Given the description of an element on the screen output the (x, y) to click on. 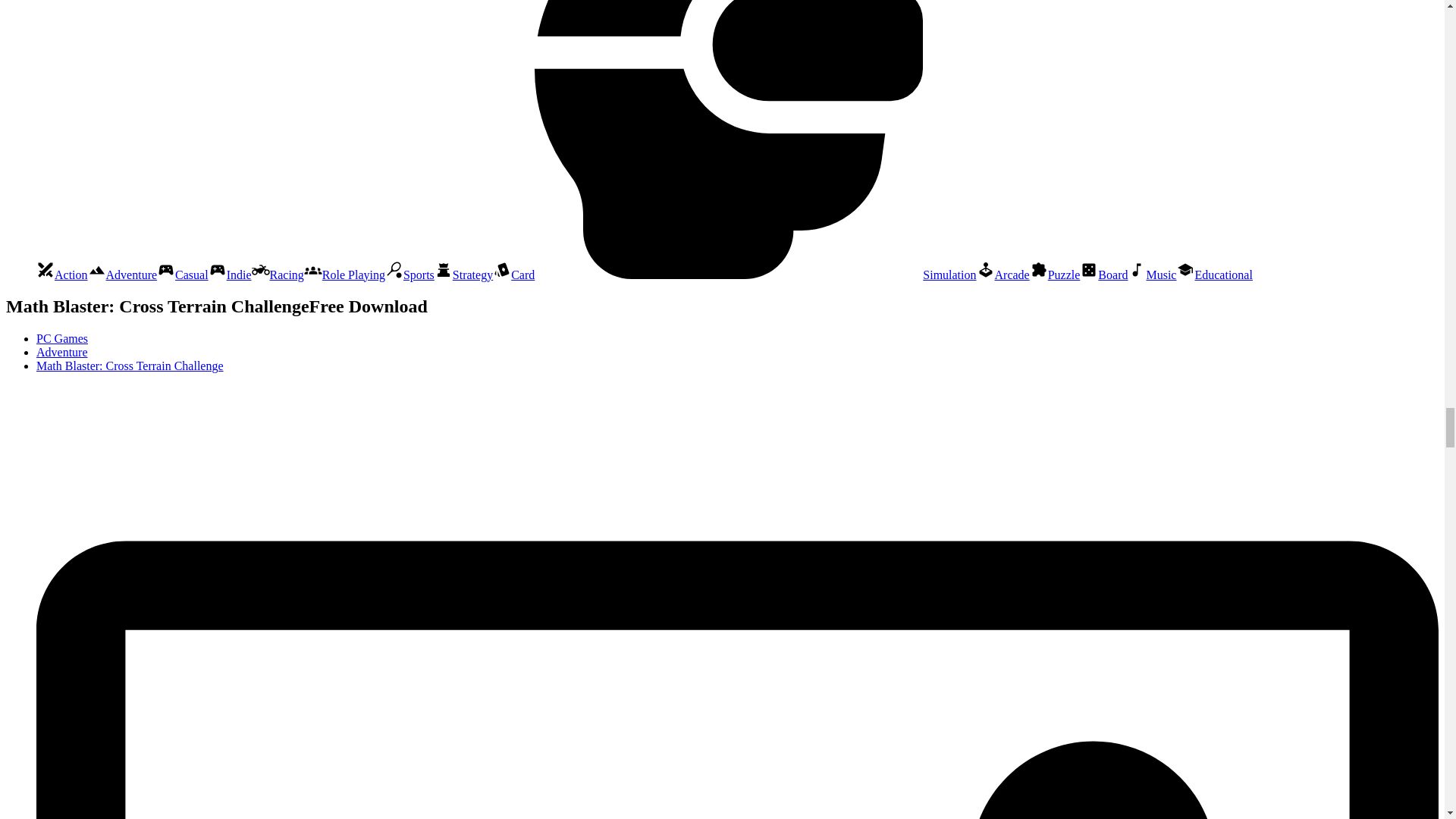
Casual (182, 274)
Board (1103, 274)
Arcade (1002, 274)
Adventure (61, 351)
Music (1151, 274)
Puzzle (1054, 274)
Strategy (463, 274)
Role Playing (344, 274)
Action (61, 274)
Simulation (754, 274)
PC Games (61, 338)
Sports (409, 274)
Racing (277, 274)
Math Blaster: Cross Terrain Challenge (130, 365)
Educational (1214, 274)
